Given the description of an element on the screen output the (x, y) to click on. 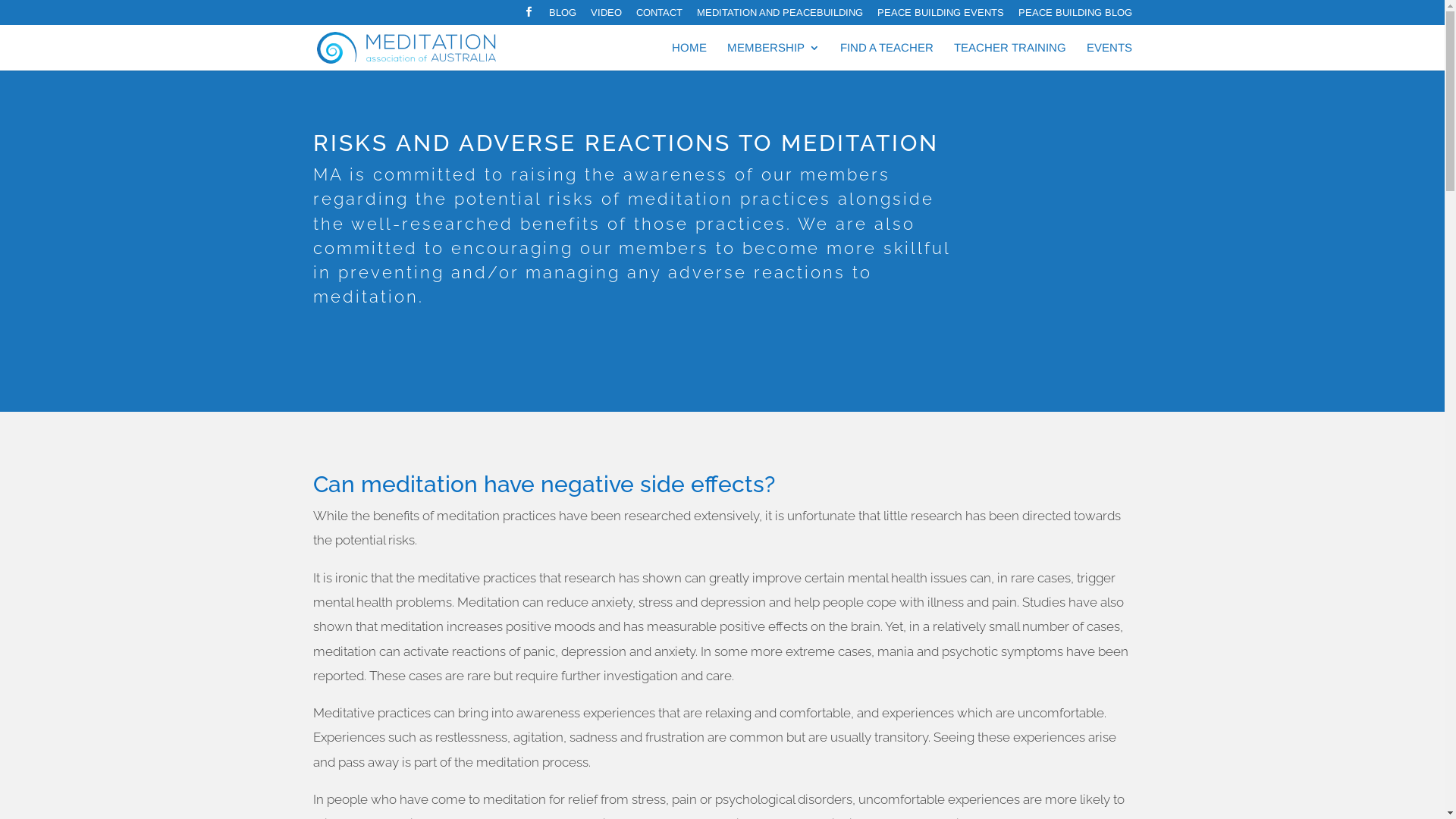
HOME Element type: text (688, 56)
CONTACT Element type: text (658, 16)
EVENTS Element type: text (1108, 56)
MEDITATION AND PEACEBUILDING Element type: text (779, 16)
PEACE BUILDING BLOG Element type: text (1074, 16)
MEMBERSHIP Element type: text (772, 56)
FIND A TEACHER Element type: text (886, 56)
VIDEO Element type: text (605, 16)
PEACE BUILDING EVENTS Element type: text (939, 16)
BLOG Element type: text (562, 16)
TEACHER TRAINING Element type: text (1009, 56)
